Given the description of an element on the screen output the (x, y) to click on. 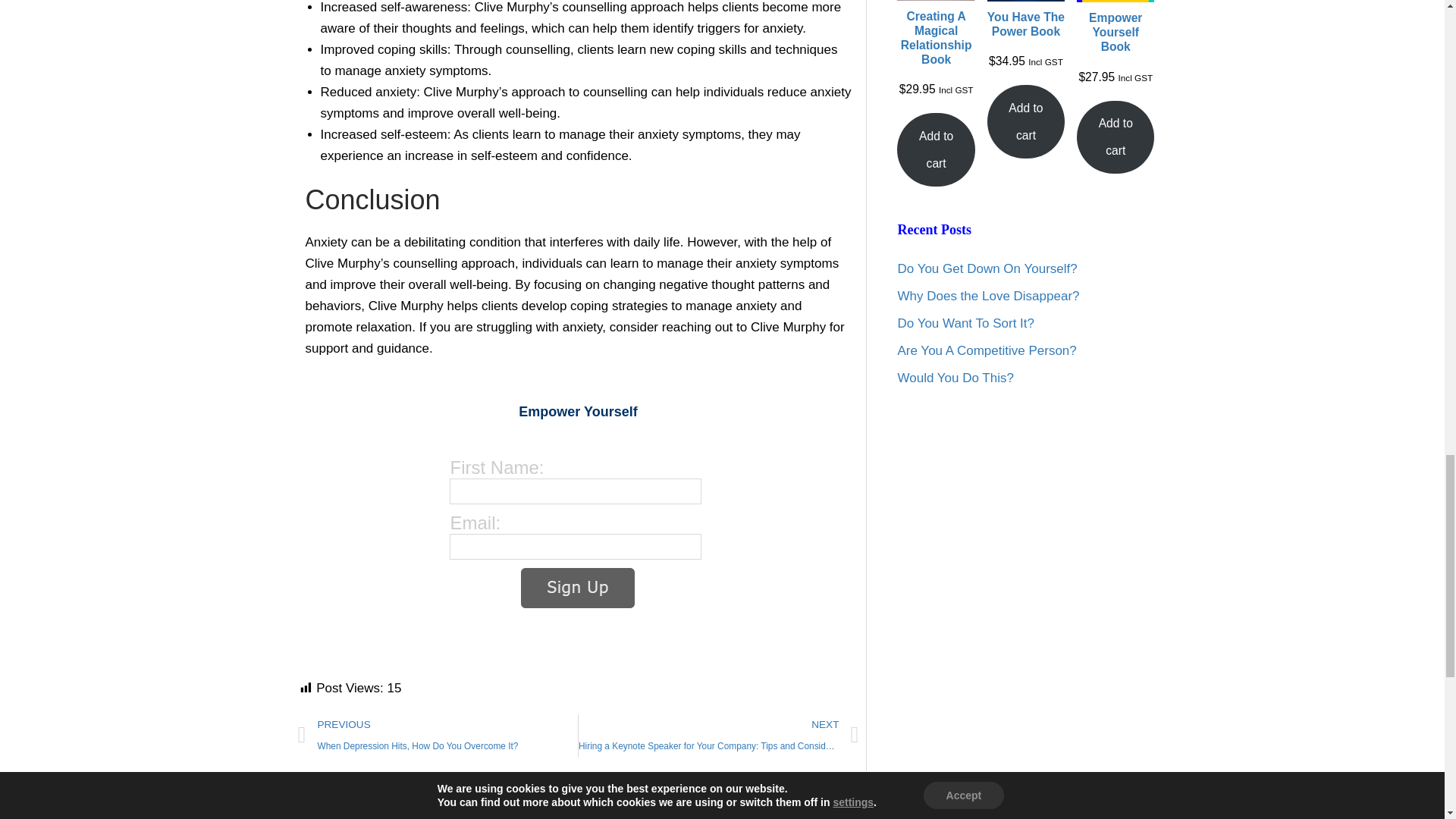
Advertisement (578, 795)
